Given the description of an element on the screen output the (x, y) to click on. 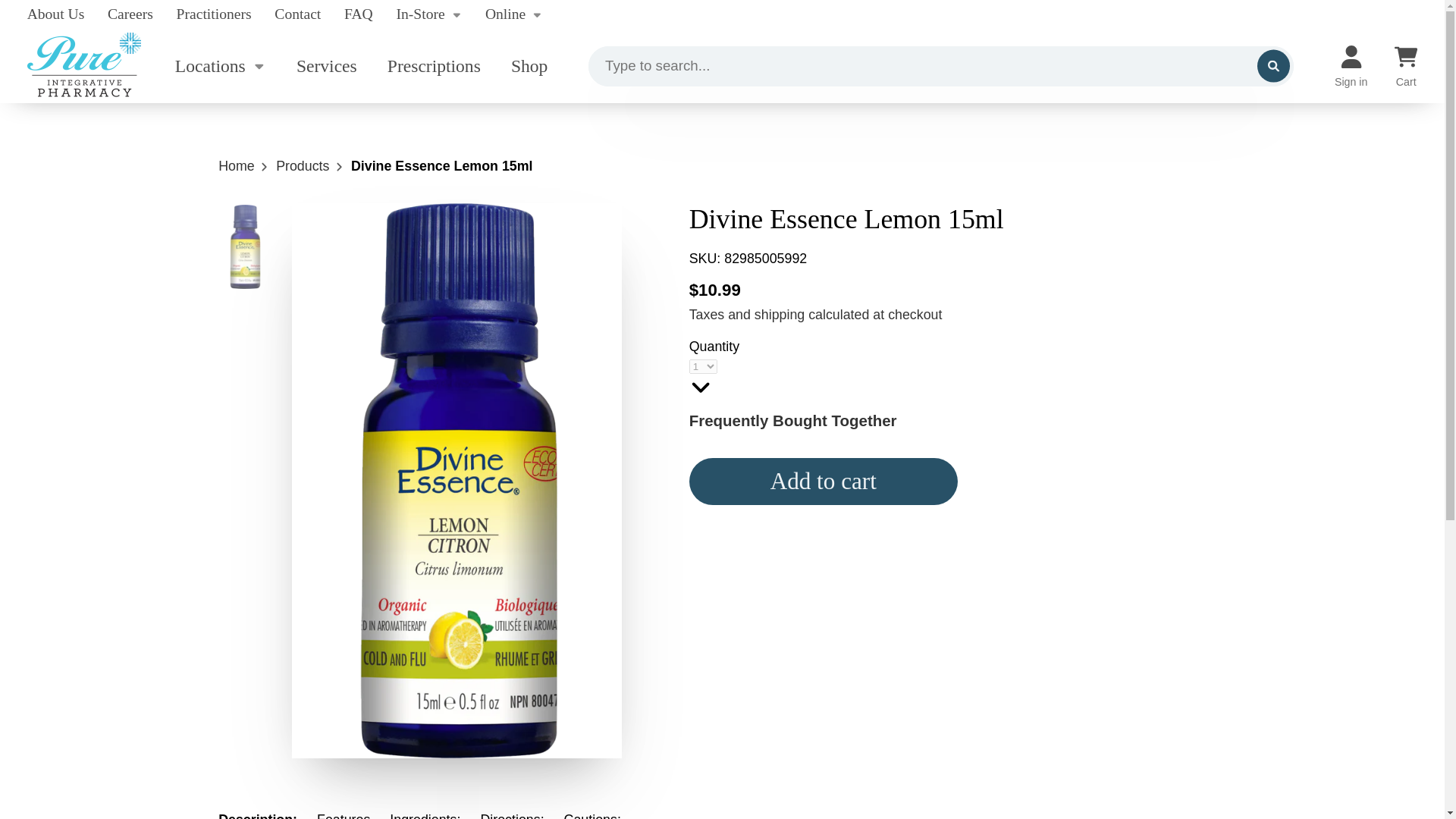
Careers (129, 14)
Locations (215, 65)
Contact (297, 14)
Practitioners (213, 14)
In-Store (428, 14)
About Us (55, 14)
FAQ (357, 14)
Logo (84, 65)
Online (513, 14)
